Given the description of an element on the screen output the (x, y) to click on. 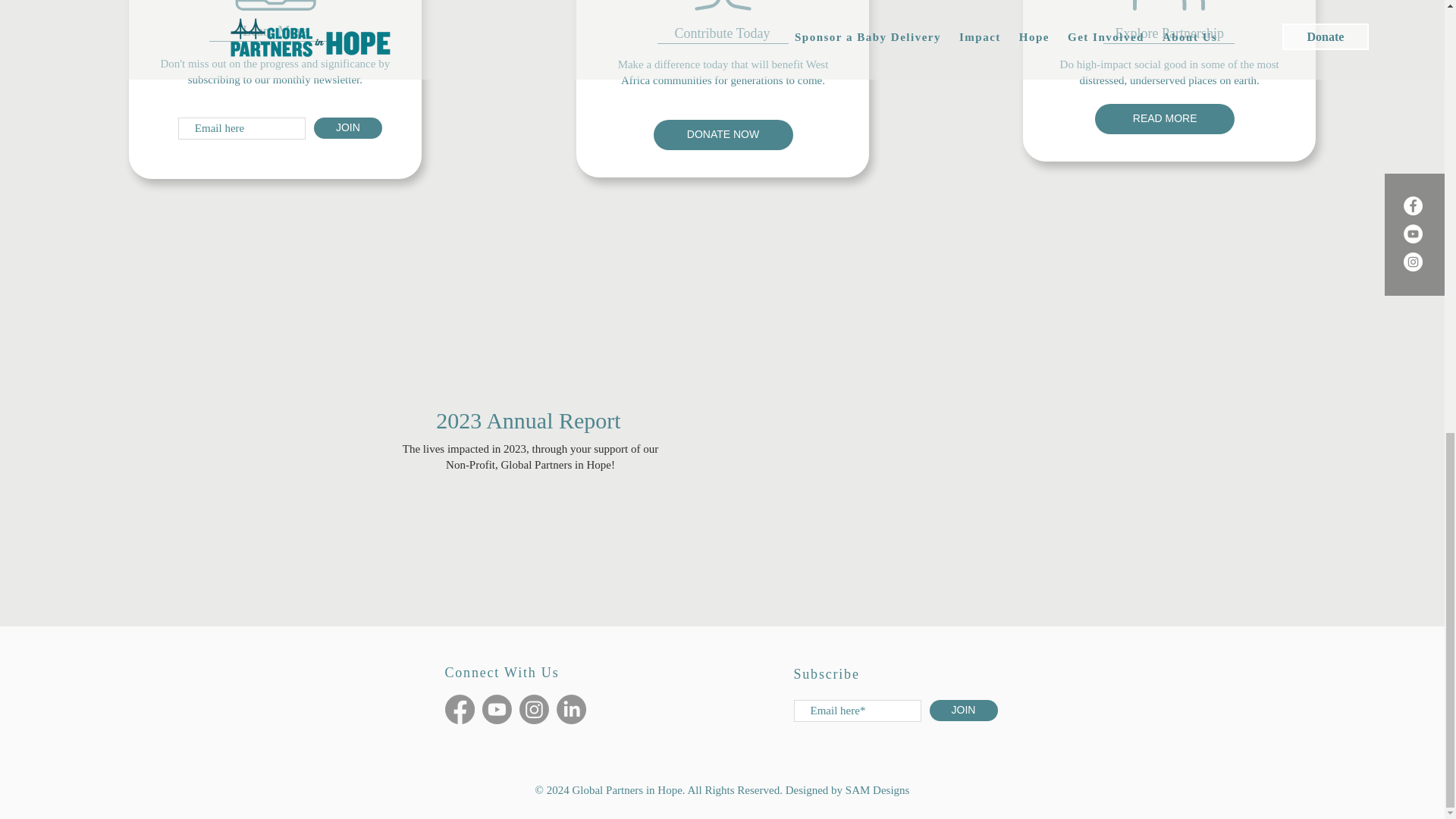
JOIN (347, 127)
JOIN (963, 710)
READ MORE (1164, 119)
DONATE NOW (723, 134)
